Given the description of an element on the screen output the (x, y) to click on. 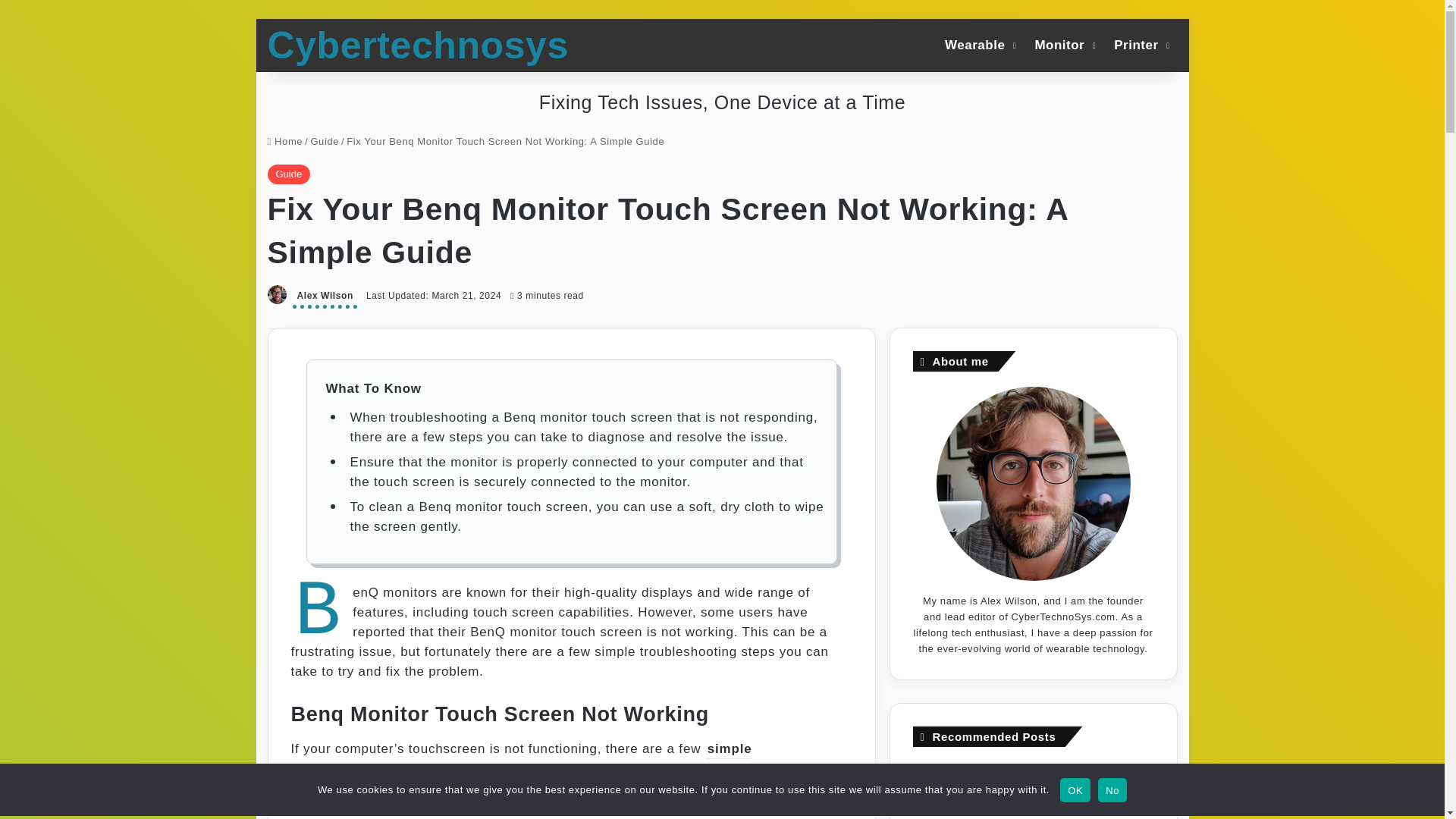
Guide (288, 174)
Monitor (1063, 44)
Guide (324, 141)
Alex Wilson (324, 297)
Cybertechnosys (416, 45)
Home (284, 141)
Alex Wilson (324, 297)
Cybertechnosys (416, 45)
Printer (1139, 44)
Wearable (978, 44)
